Given the description of an element on the screen output the (x, y) to click on. 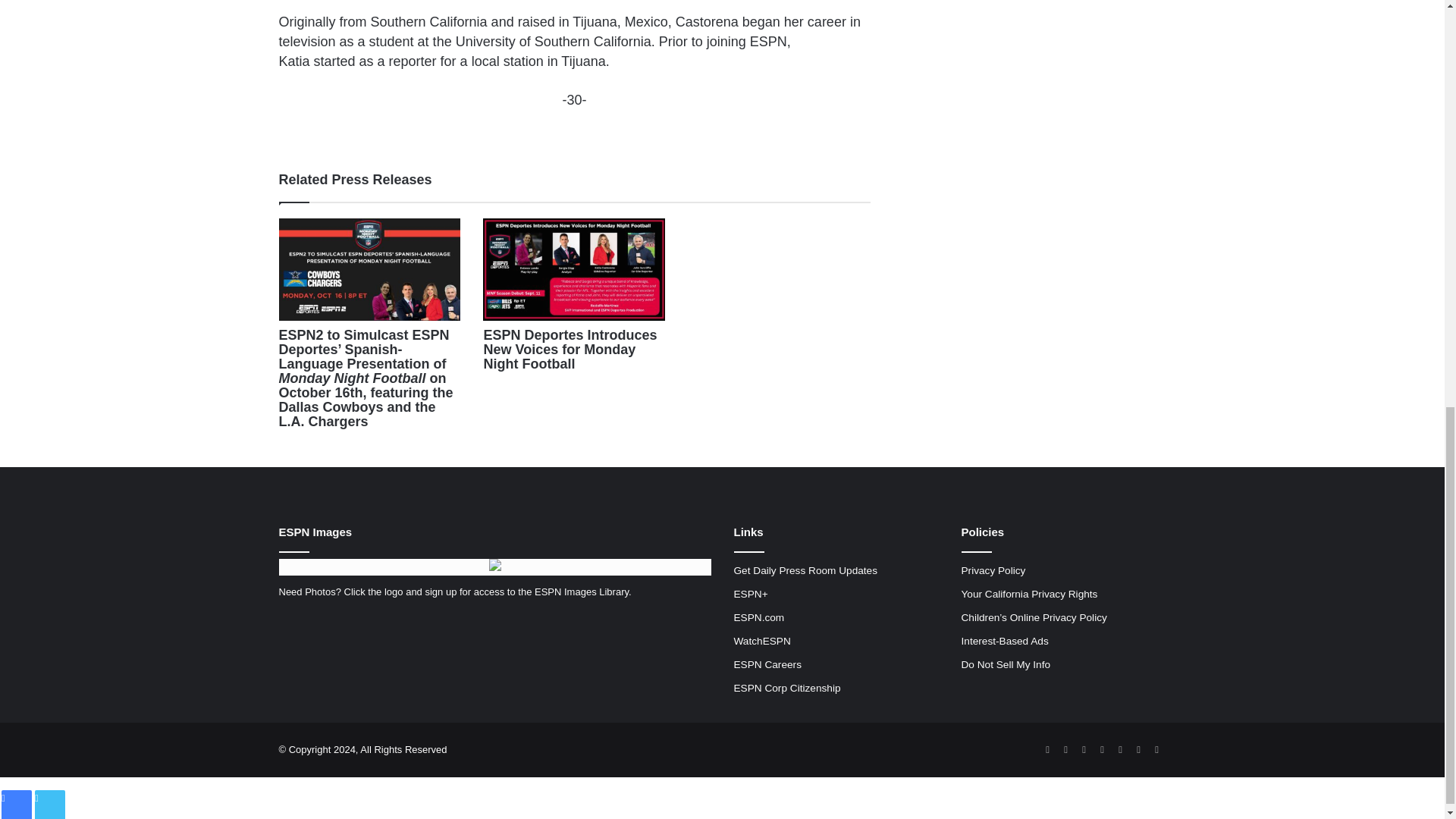
ESPN Images Library (581, 591)
Get Daily Press Room Updates (805, 570)
